Given the description of an element on the screen output the (x, y) to click on. 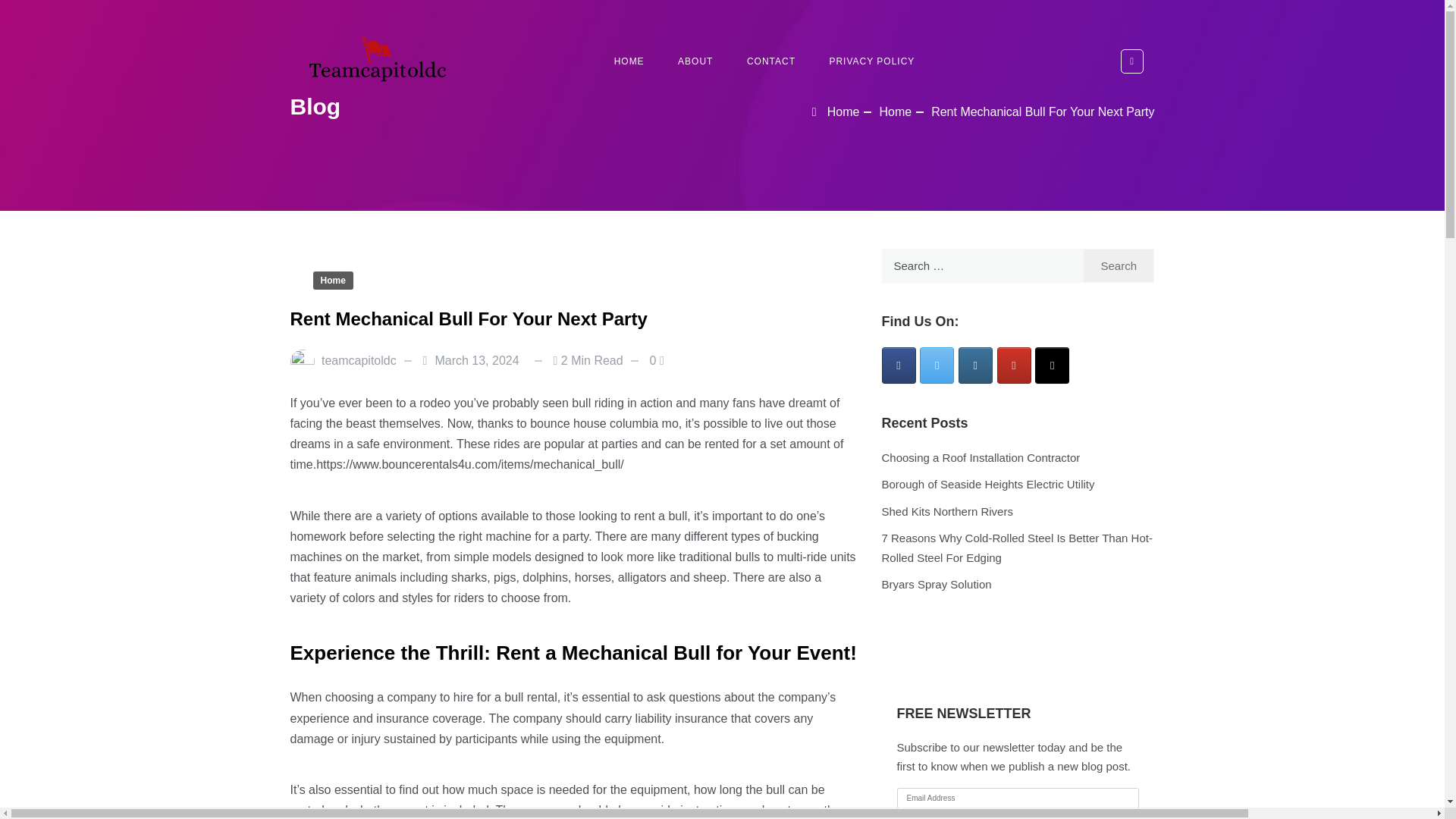
Search (1118, 265)
bull rental (529, 697)
PRIVACY POLICY (871, 60)
Search (83, 11)
Rent Mechanical Bull For Your Next Party (1042, 111)
Home (332, 280)
Teamcapitoldc on Facebook (897, 365)
CONTACT (771, 60)
Home (895, 111)
Teamcapitoldc on Instagram (975, 365)
HOME (628, 60)
Shed Kits Northern Rivers (945, 511)
Teamcapitoldc on X Twitter (936, 365)
ABOUT (695, 60)
Bryars Spray Solution (935, 584)
